Given the description of an element on the screen output the (x, y) to click on. 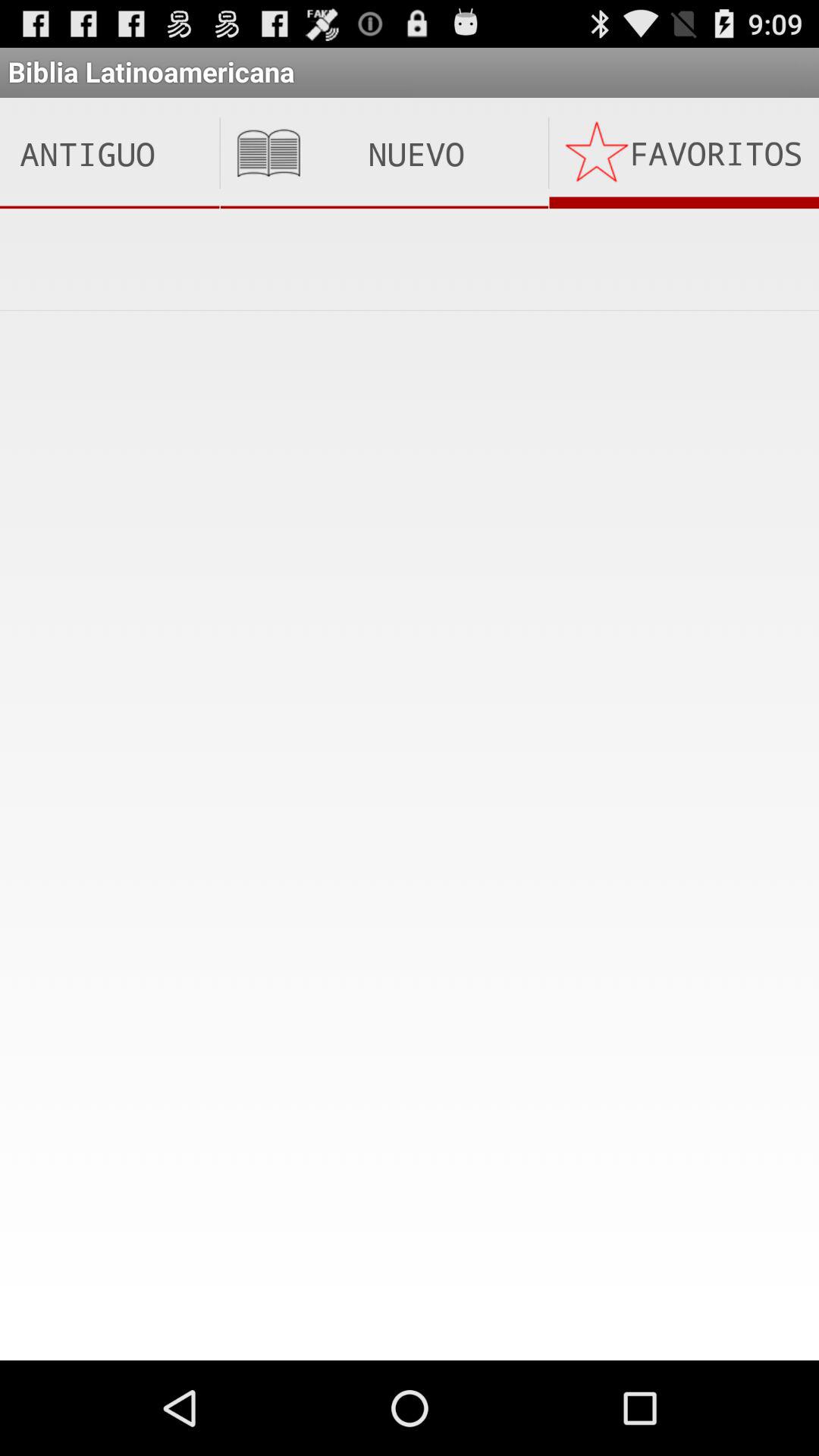
launch icon to the right of antiguo testamento item (384, 152)
